Given the description of an element on the screen output the (x, y) to click on. 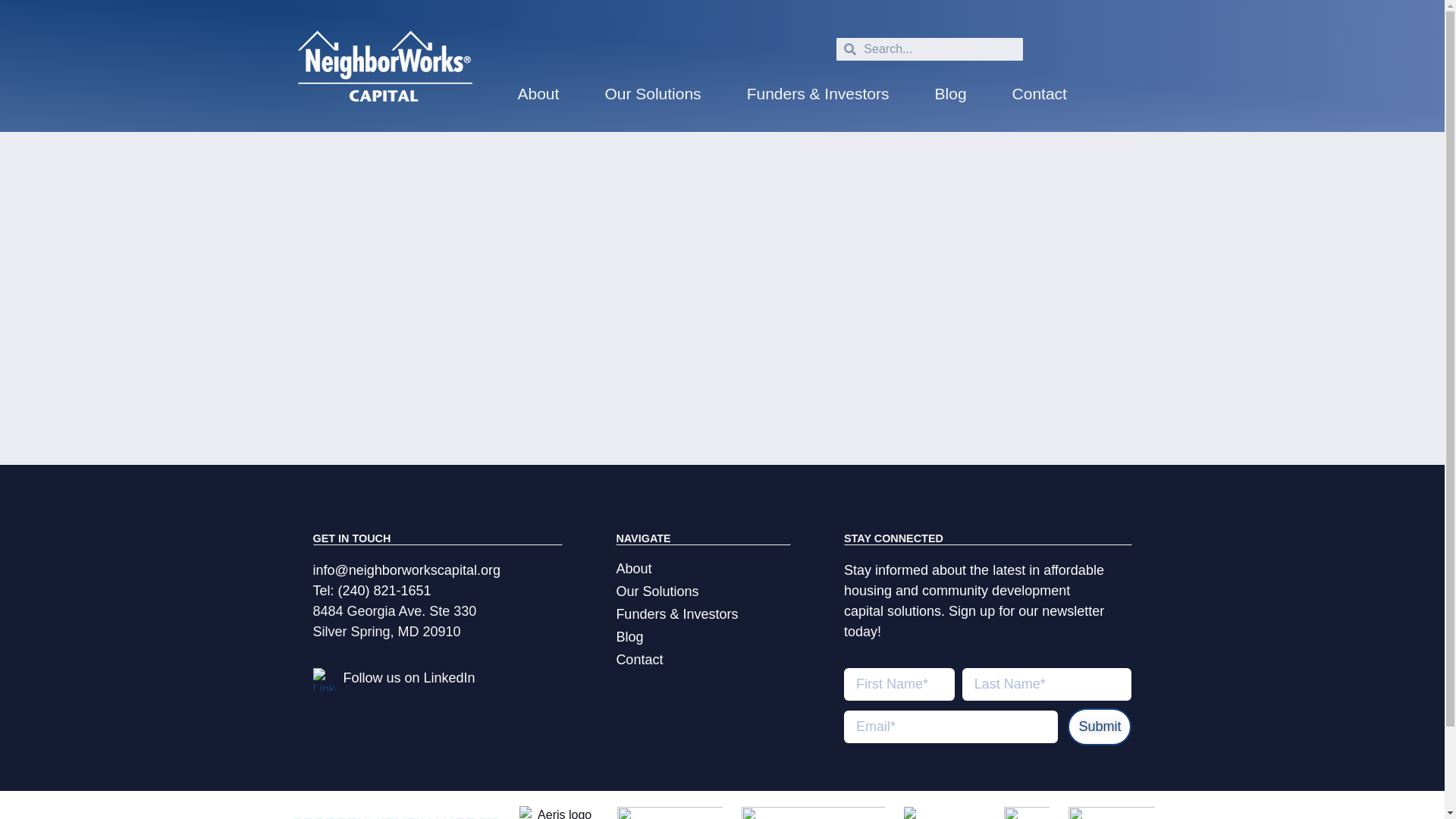
Submit (1099, 726)
Follow us on LinkedIn (408, 677)
Our Solutions (702, 591)
Blog (702, 637)
Blog (951, 92)
About (702, 568)
Our Solutions (651, 92)
Contact (702, 659)
Contact (1039, 92)
About (537, 92)
